Given the description of an element on the screen output the (x, y) to click on. 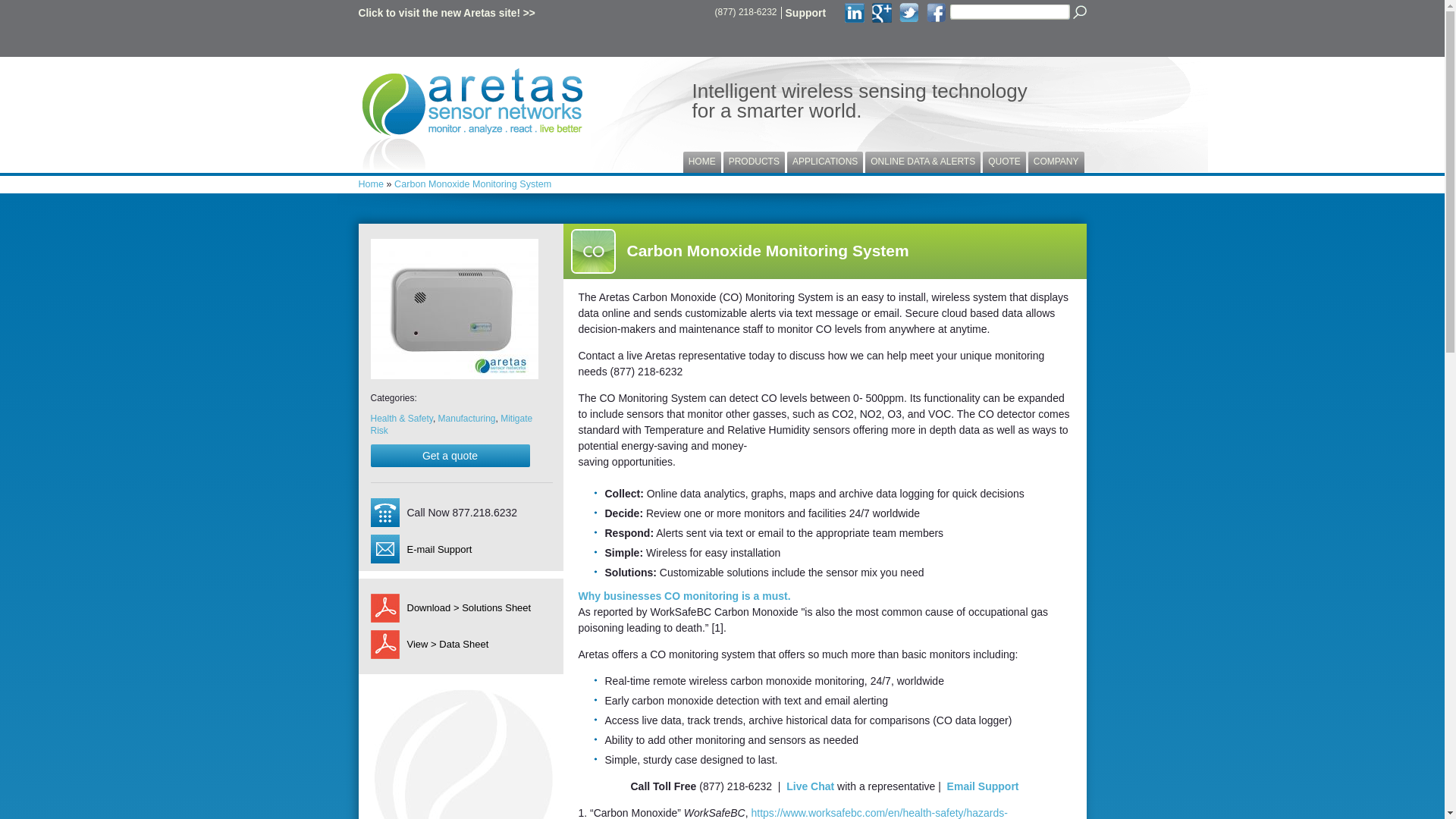
Live Chat Element type: text (810, 786)
ONLINE DATA & ALERTS Element type: text (922, 161)
Home Element type: text (370, 183)
Email Support Element type: text (983, 786)
PRODUCTS Element type: text (753, 161)
Manufacturing Element type: text (466, 418)
Google+ Element type: text (881, 12)
Get a quote Element type: text (449, 455)
Mitigate Risk Element type: text (451, 424)
Support Element type: text (805, 12)
QUOTE Element type: text (1004, 161)
COMPANY Element type: text (1056, 161)
Search Element type: text (1078, 11)
(877) 218-6232 Element type: text (746, 11)
E-mail Support Element type: text (438, 549)
Enter the terms you wish to search for Element type: hover (1010, 11)
HOME Element type: text (701, 161)
Aretas Sensor Networks Element type: text (471, 119)
APPLICATIONS Element type: text (824, 161)
Facebook Element type: text (936, 12)
Health & Safety Element type: text (401, 418)
View > Data Sheet Element type: text (463, 644)
Download > Solutions Sheet Element type: text (463, 607)
Carbon Monoxide Monitoring System Element type: hover (453, 308)
Carbon Monoxide Monitoring System Element type: text (472, 183)
Click to visit the new Aretas site! >> Element type: text (445, 12)
LinkedIn Element type: text (854, 12)
Twitter Element type: text (909, 12)
